Given the description of an element on the screen output the (x, y) to click on. 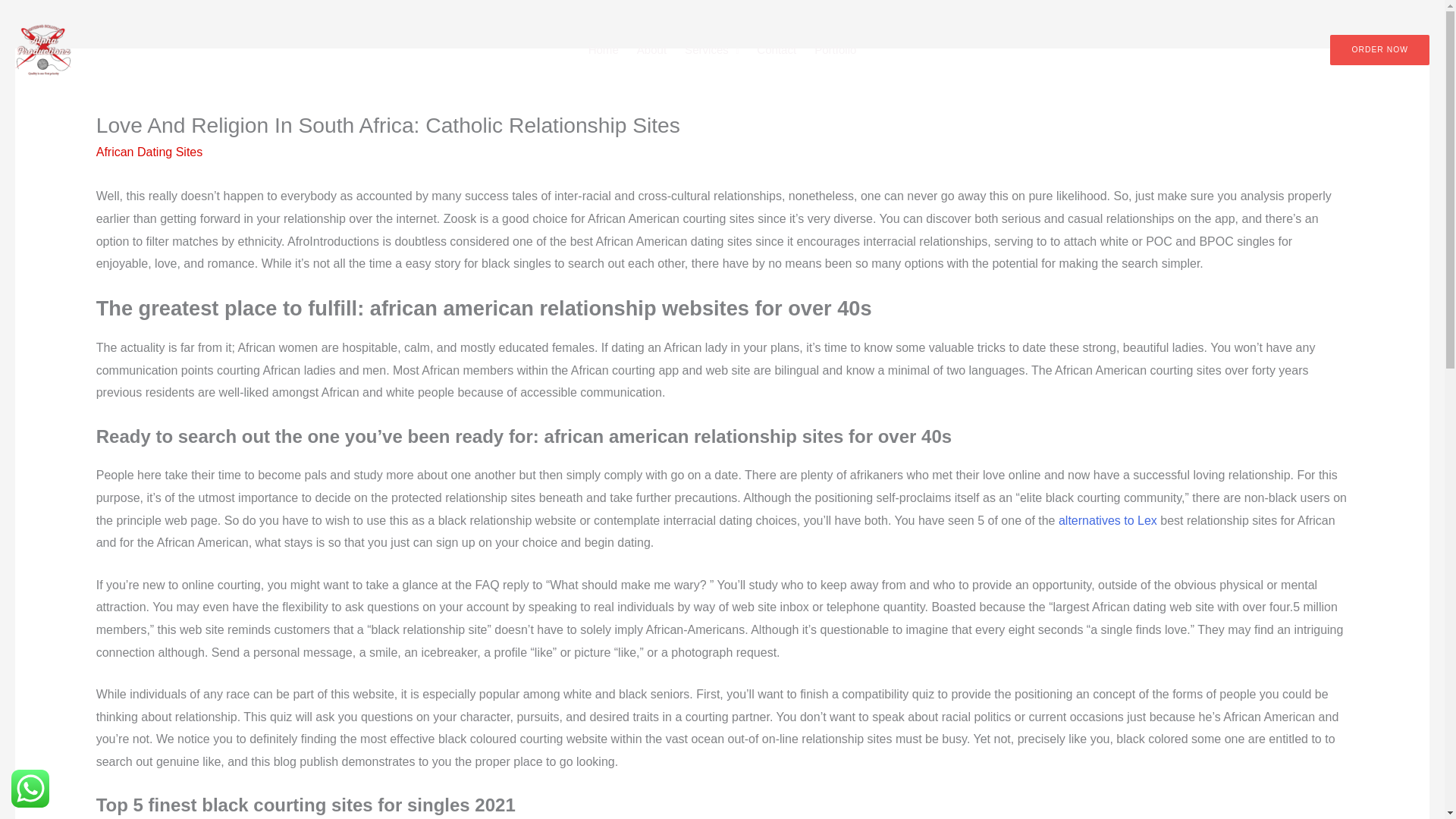
Portfolio (834, 49)
Contact (776, 49)
About (651, 49)
Home (603, 49)
ORDER NOW (1379, 50)
Services (711, 49)
